Given the description of an element on the screen output the (x, y) to click on. 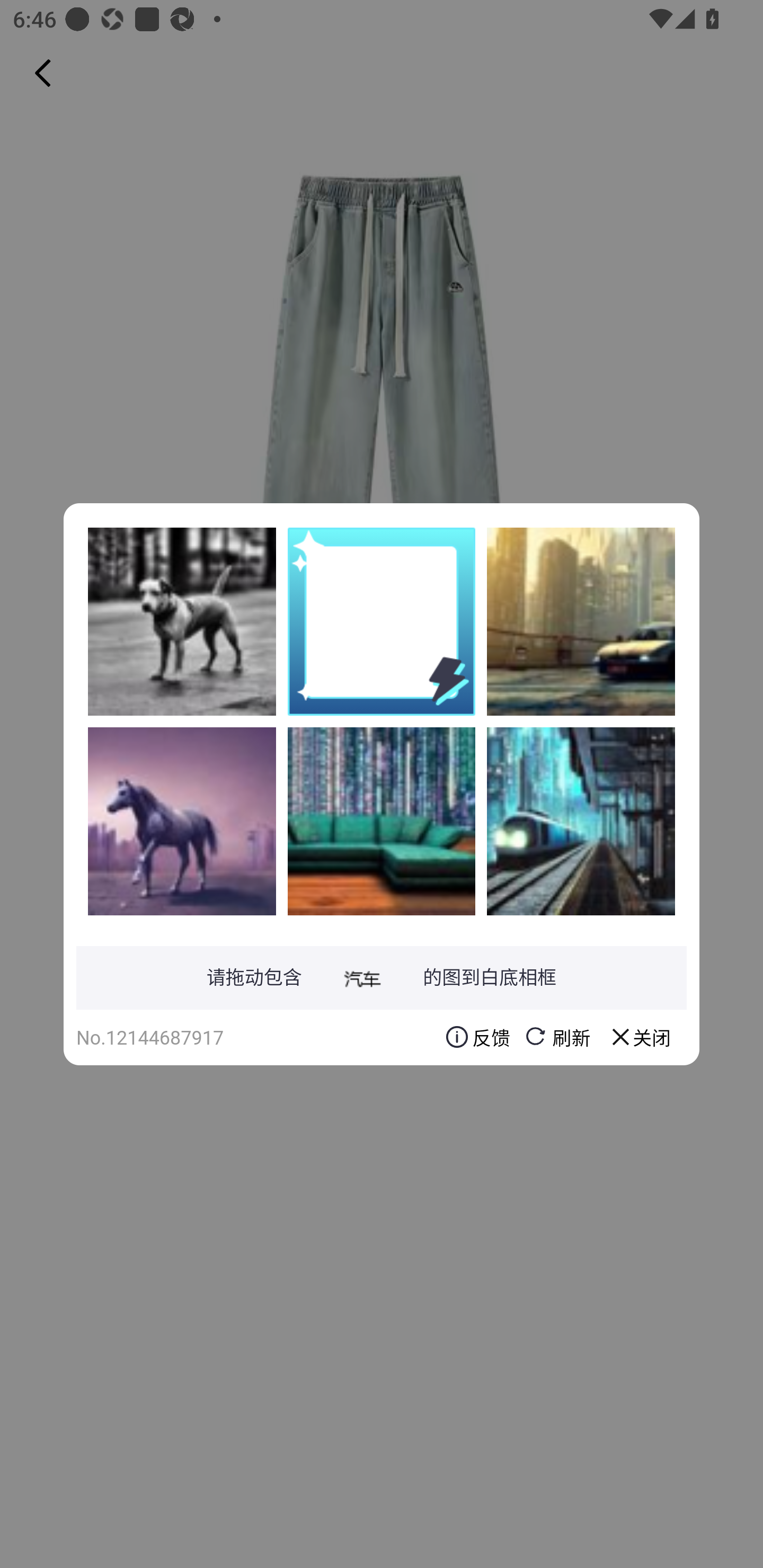
Ti5ucLdNQIhHFqL98xHkwcbjk0PjnYvEiDLoEhvZwa (181, 820)
yL1bL3h5+0PapHKqu2aoqBmjsHKE6s4NMvIHxYncIU+IobRrnv (381, 820)
